Given the description of an element on the screen output the (x, y) to click on. 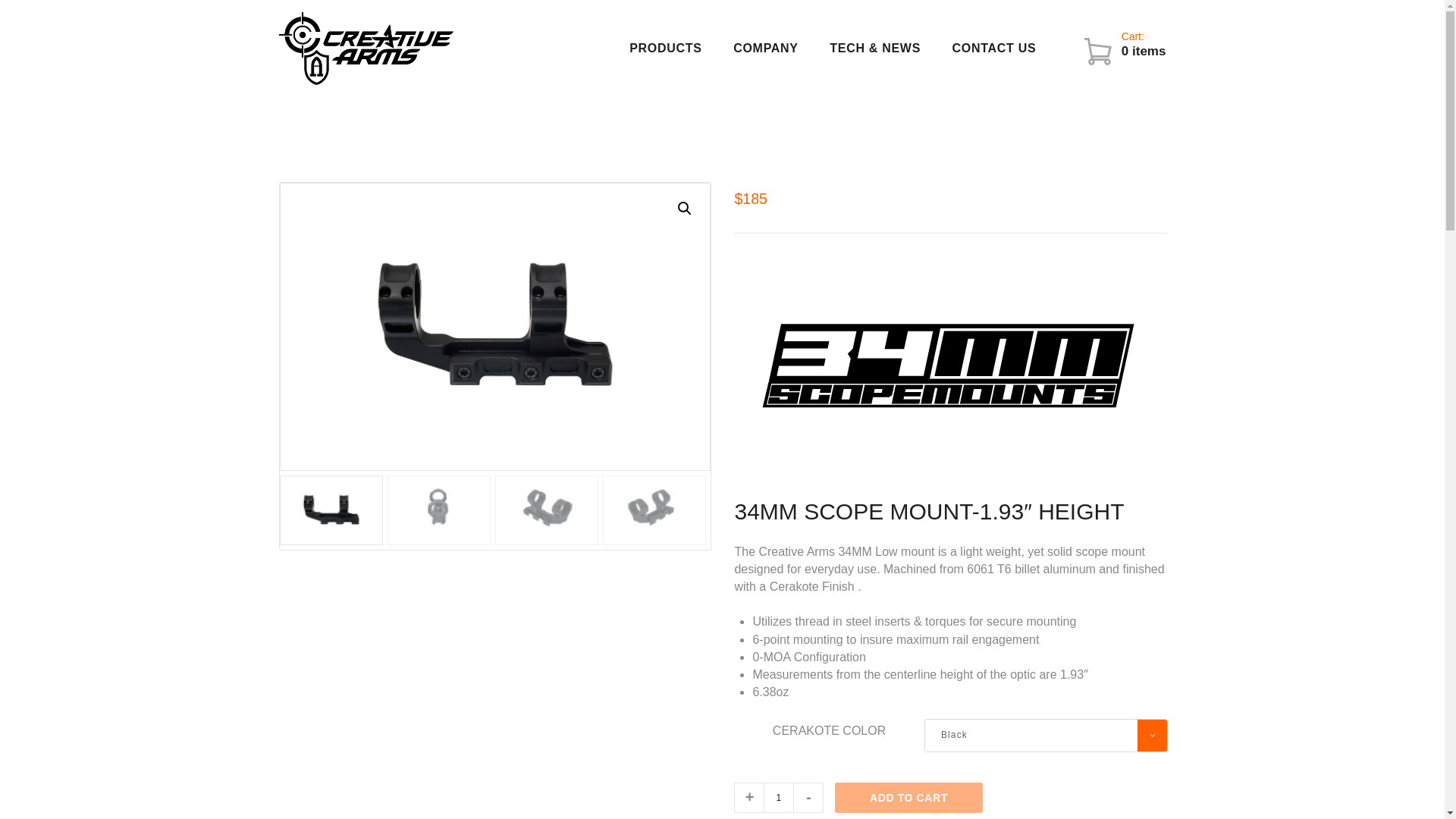
Qty (777, 797)
PRODUCTS (664, 48)
COMPANY (765, 48)
1 (777, 797)
CONTACT US (994, 48)
